Given the description of an element on the screen output the (x, y) to click on. 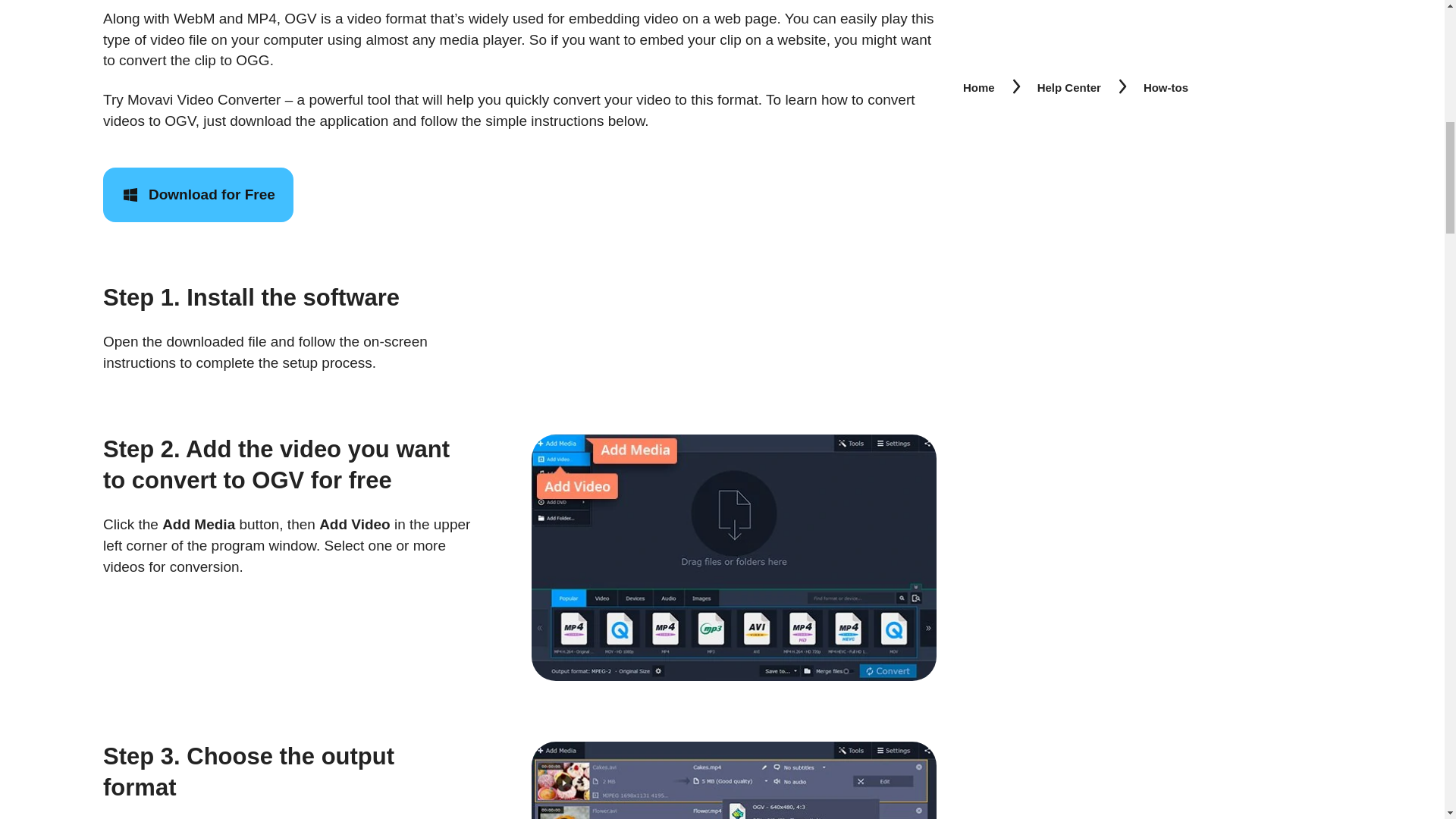
Download for Free (198, 194)
